Given the description of an element on the screen output the (x, y) to click on. 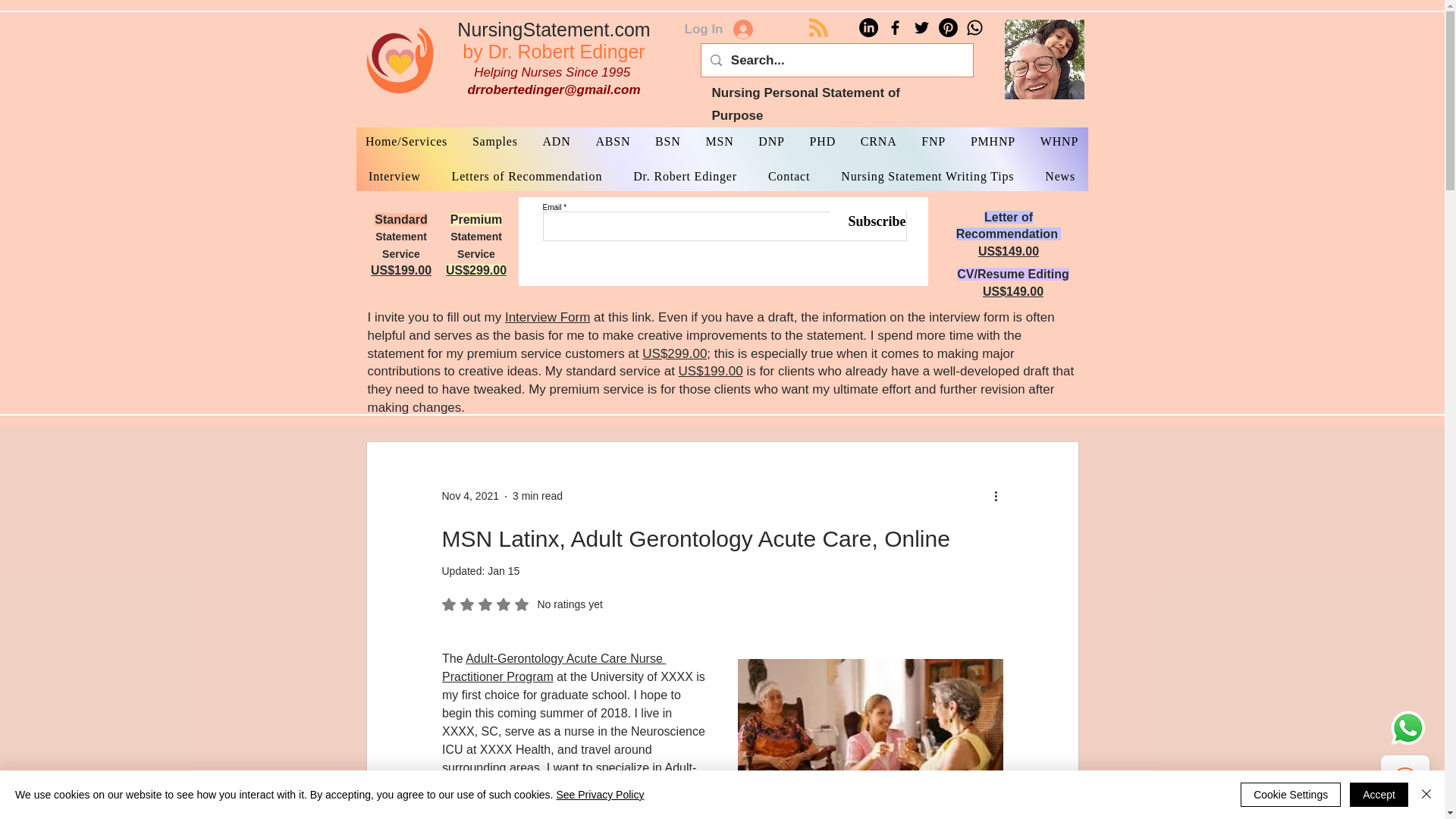
CRNA (877, 141)
DNP (771, 141)
Nov 4, 2021 (470, 495)
FNP (933, 141)
BSN (668, 141)
MSN (718, 141)
Dr. Robert Edinger and Son David (1043, 59)
Log In (717, 29)
Writing and Edting Help for the Nursing Personal Statement (398, 59)
ADN (555, 141)
ABSN (613, 141)
Jan 15 (553, 40)
PMHNP (503, 571)
ince 1995 (992, 141)
